Given the description of an element on the screen output the (x, y) to click on. 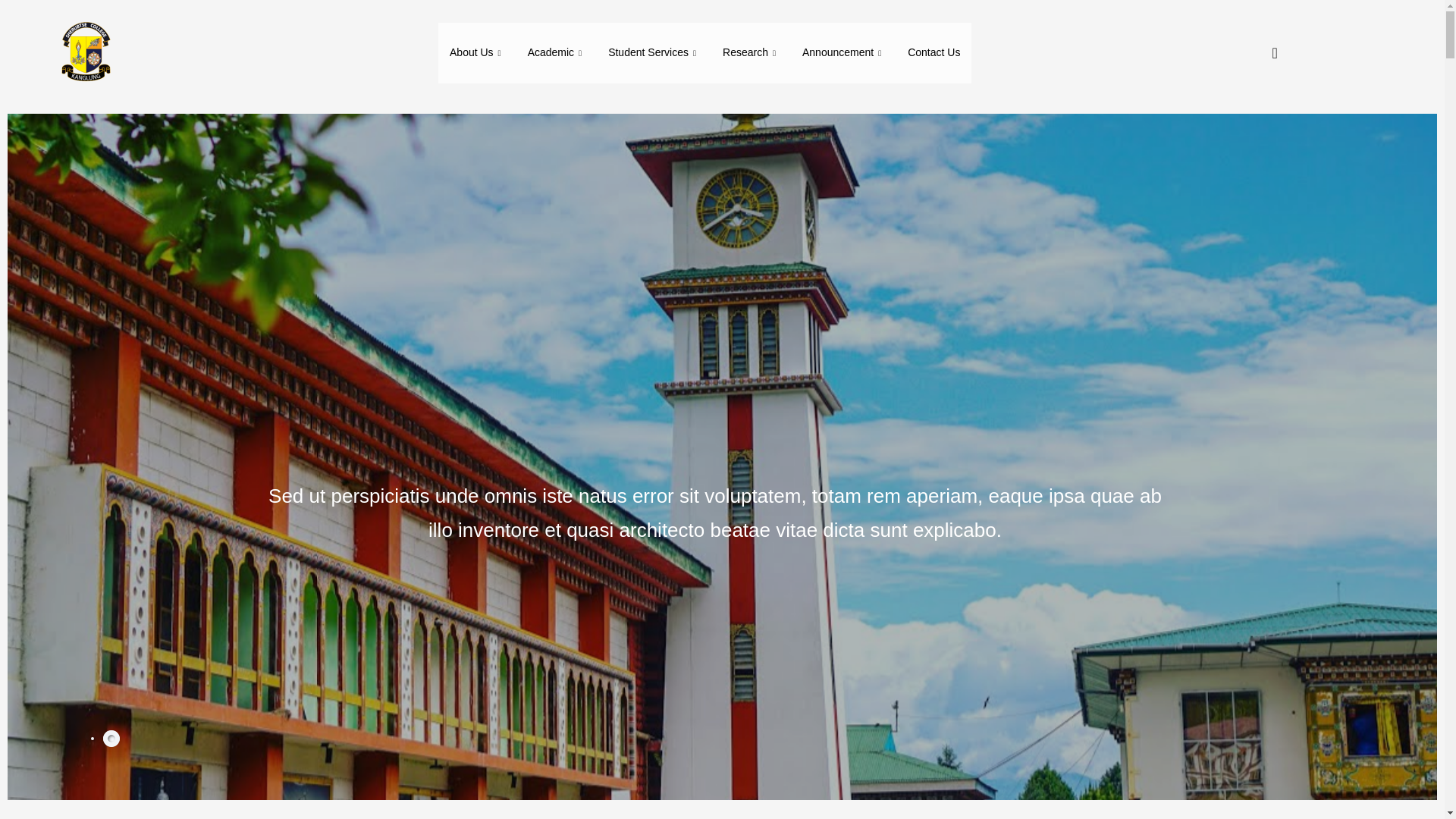
Announcement (843, 52)
Academic (556, 52)
logo-removebg-preview-1 (84, 52)
Student Services (653, 52)
About Us (477, 52)
Contact Us (933, 52)
Research (750, 52)
